Given the description of an element on the screen output the (x, y) to click on. 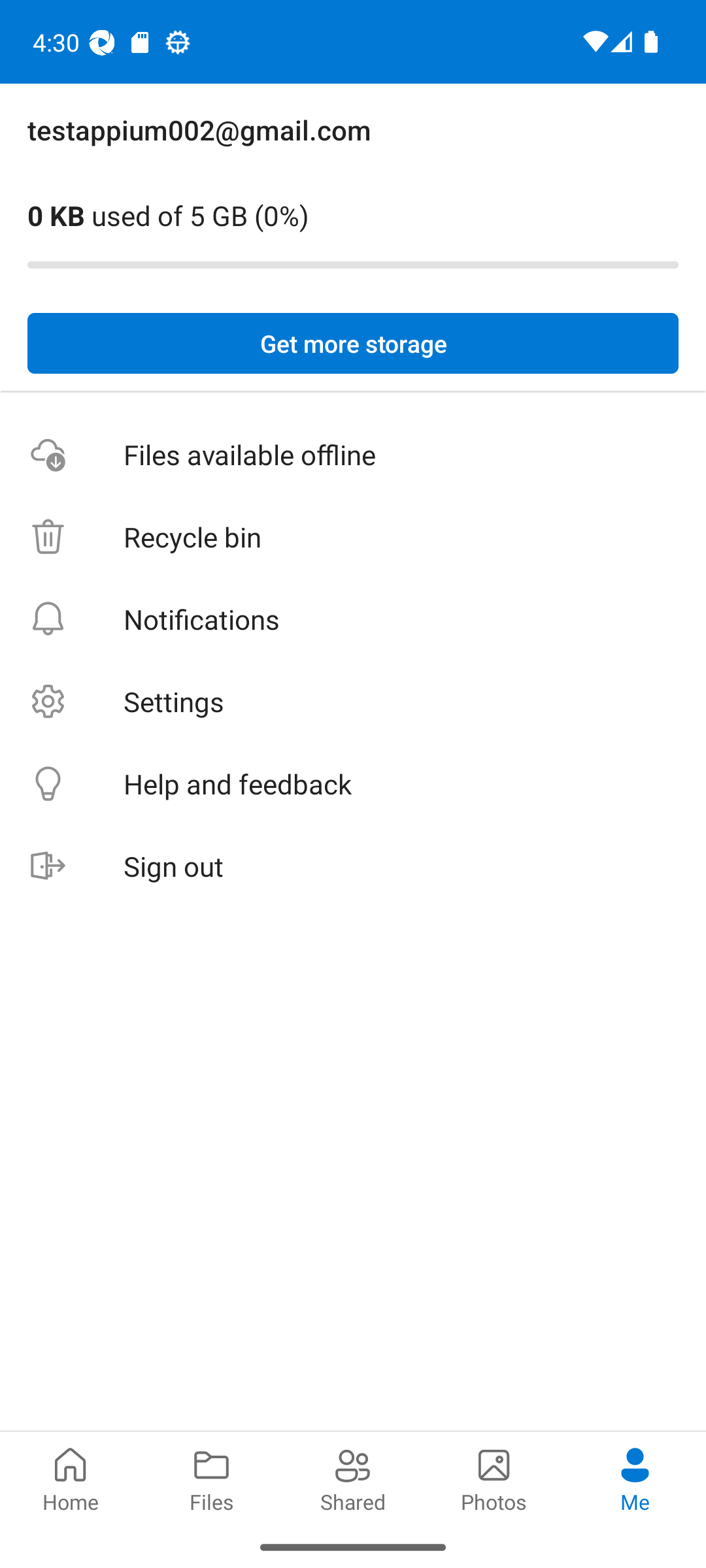
Get more storage (352, 343)
Files available offline (353, 454)
Recycle bin (353, 536)
Notifications (353, 619)
Settings (353, 701)
Help and feedback (353, 783)
Sign out (353, 865)
Home pivot Home (70, 1478)
Files pivot Files (211, 1478)
Shared pivot Shared (352, 1478)
Photos pivot Photos (493, 1478)
